Given the description of an element on the screen output the (x, y) to click on. 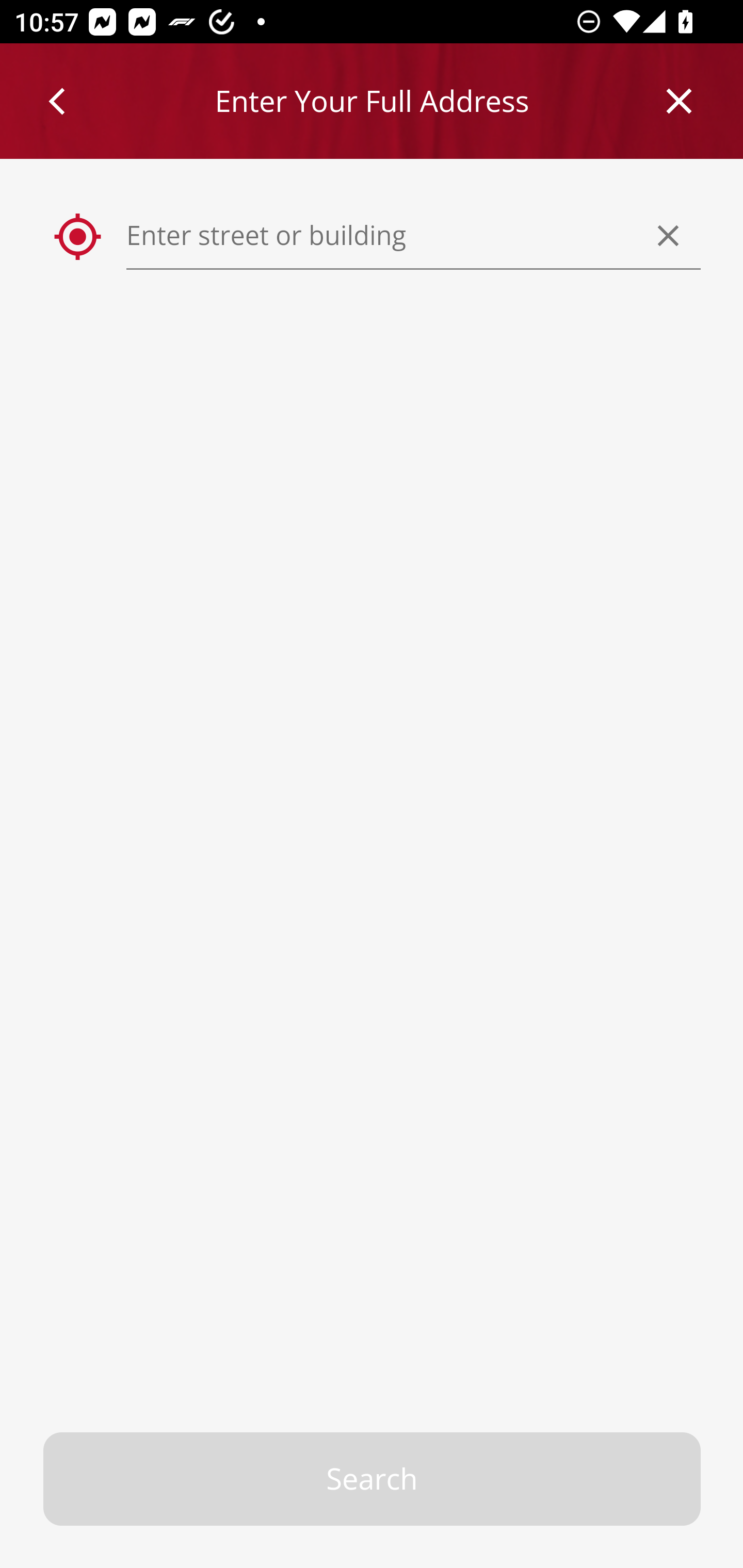
arrow_back_ios (65, 100)
close (679, 100)
gps_fixed (78, 237)
clear (669, 235)
Search (372, 1479)
